Given the description of an element on the screen output the (x, y) to click on. 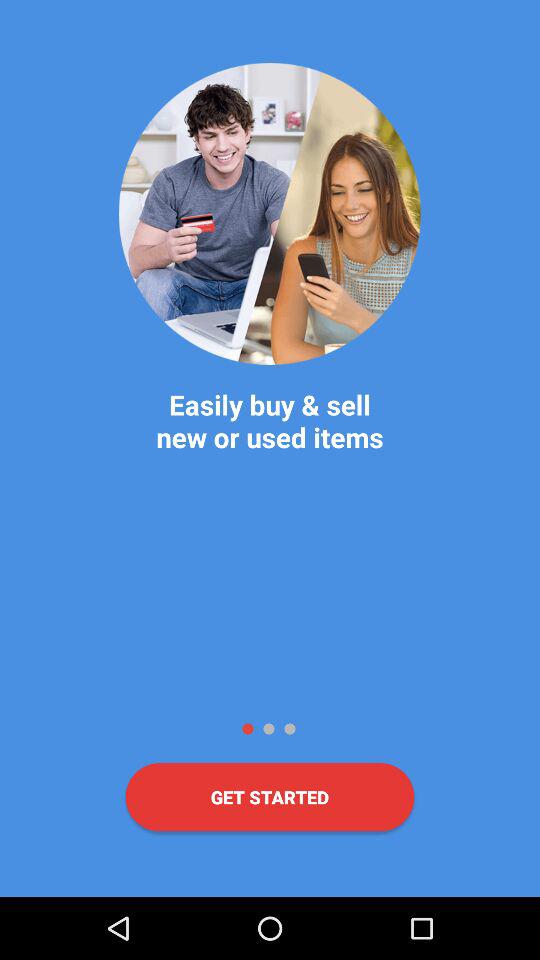
scroll until get started icon (269, 797)
